Given the description of an element on the screen output the (x, y) to click on. 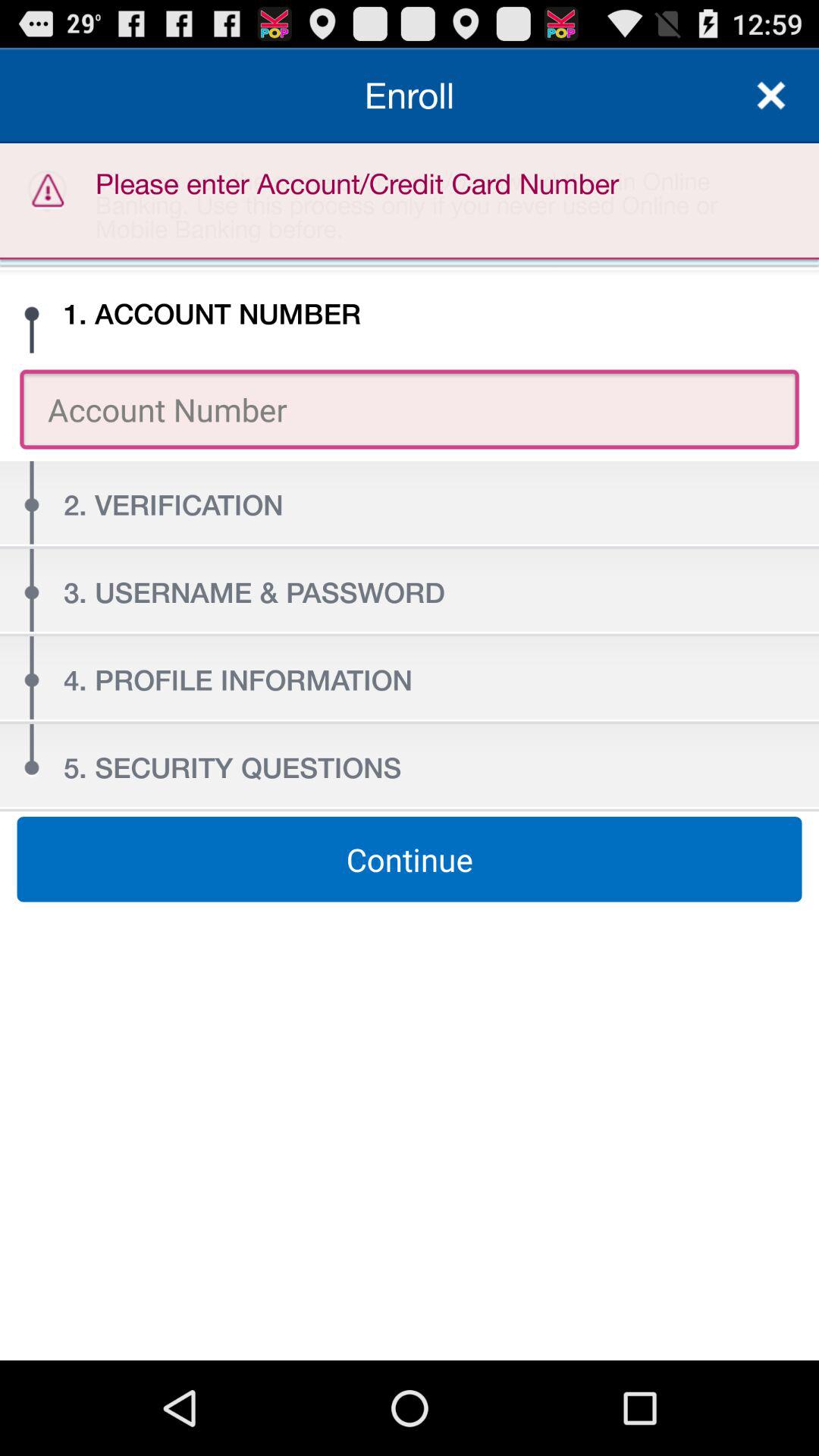
enter your account number (409, 409)
